Given the description of an element on the screen output the (x, y) to click on. 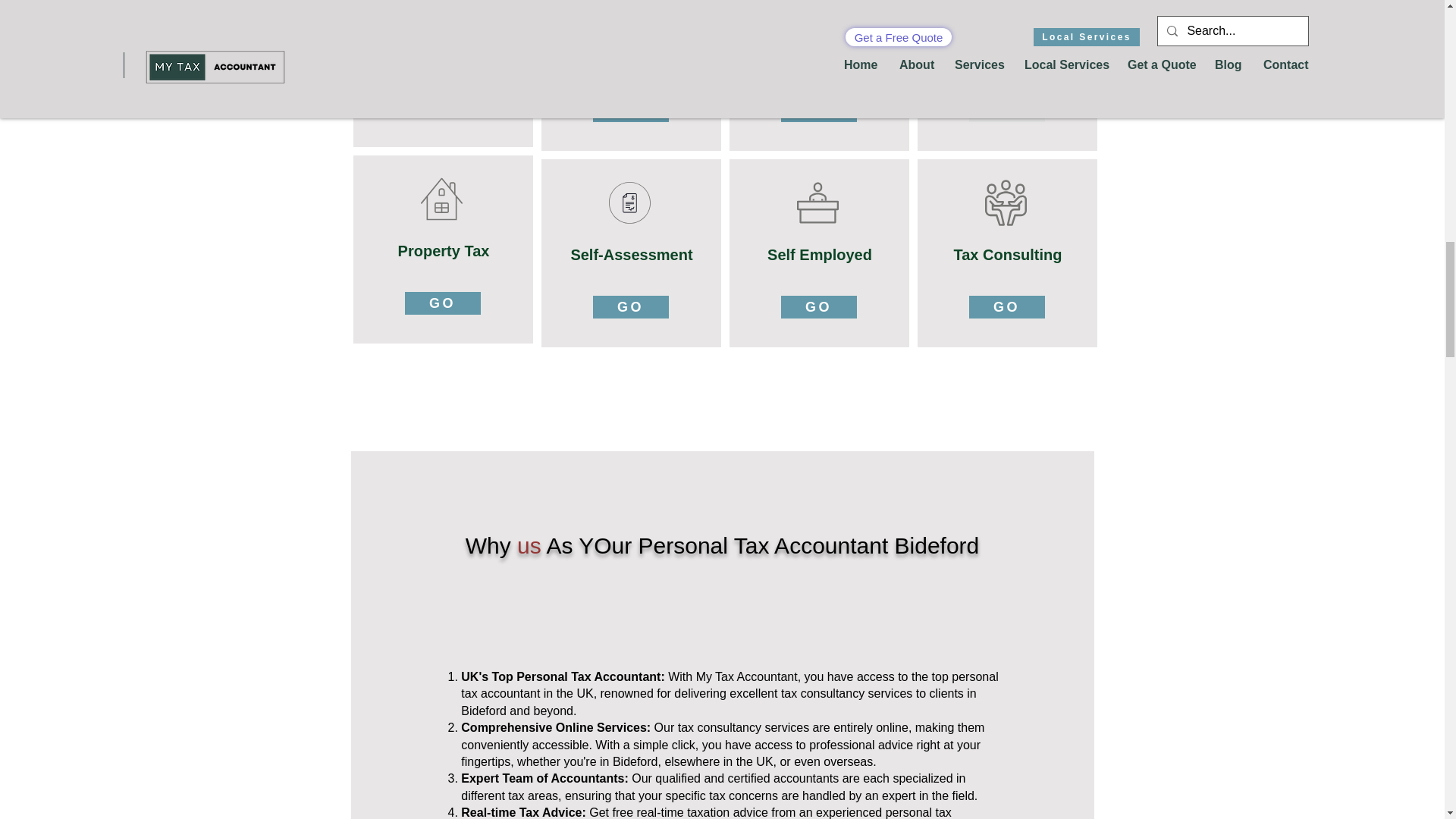
GO (442, 302)
GO (818, 110)
GO (630, 306)
GO (630, 110)
GO (1007, 306)
GO (442, 106)
GO (818, 306)
GO (1007, 110)
